Given the description of an element on the screen output the (x, y) to click on. 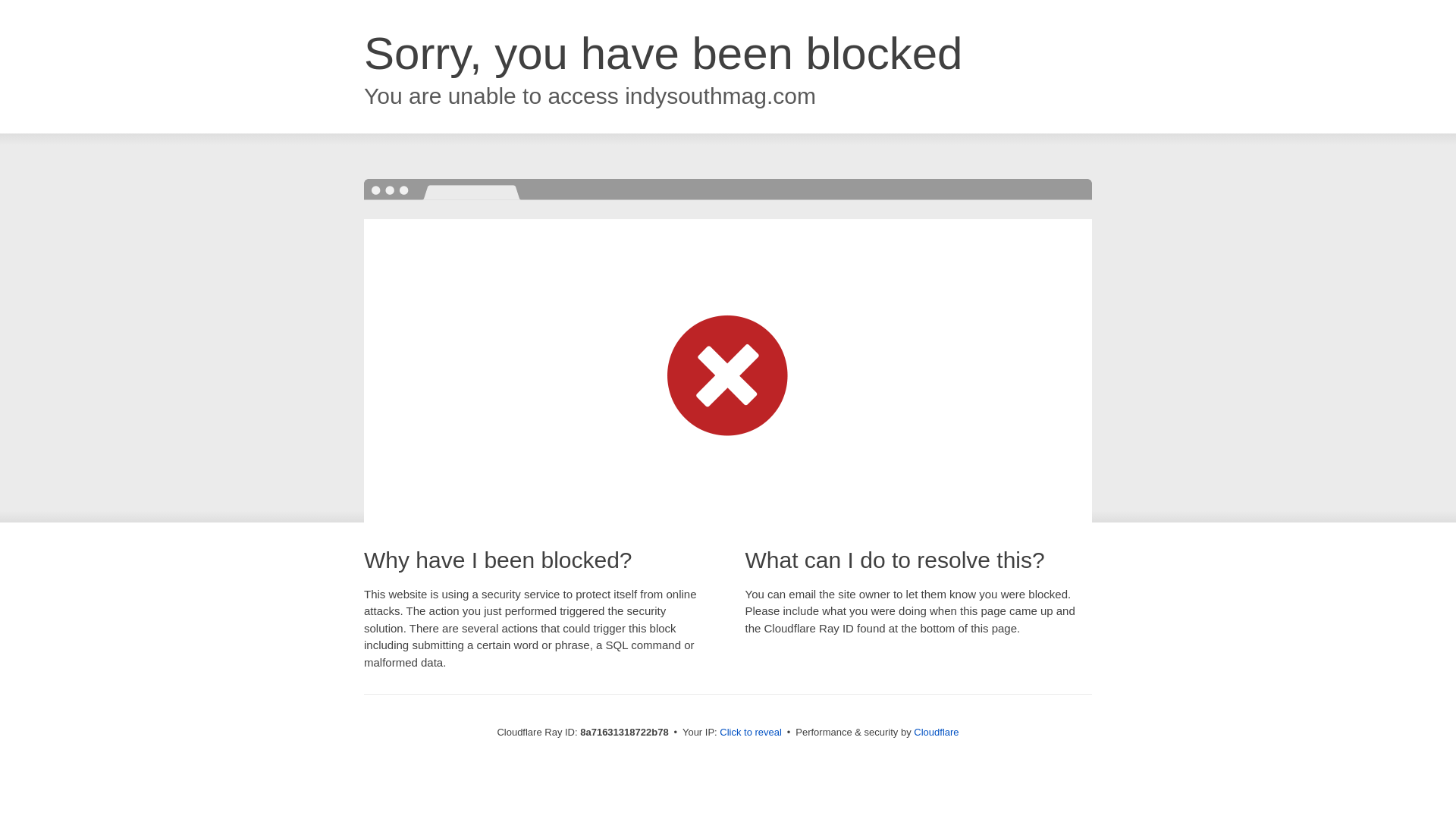
Click to reveal (750, 732)
Cloudflare (936, 731)
